Given the description of an element on the screen output the (x, y) to click on. 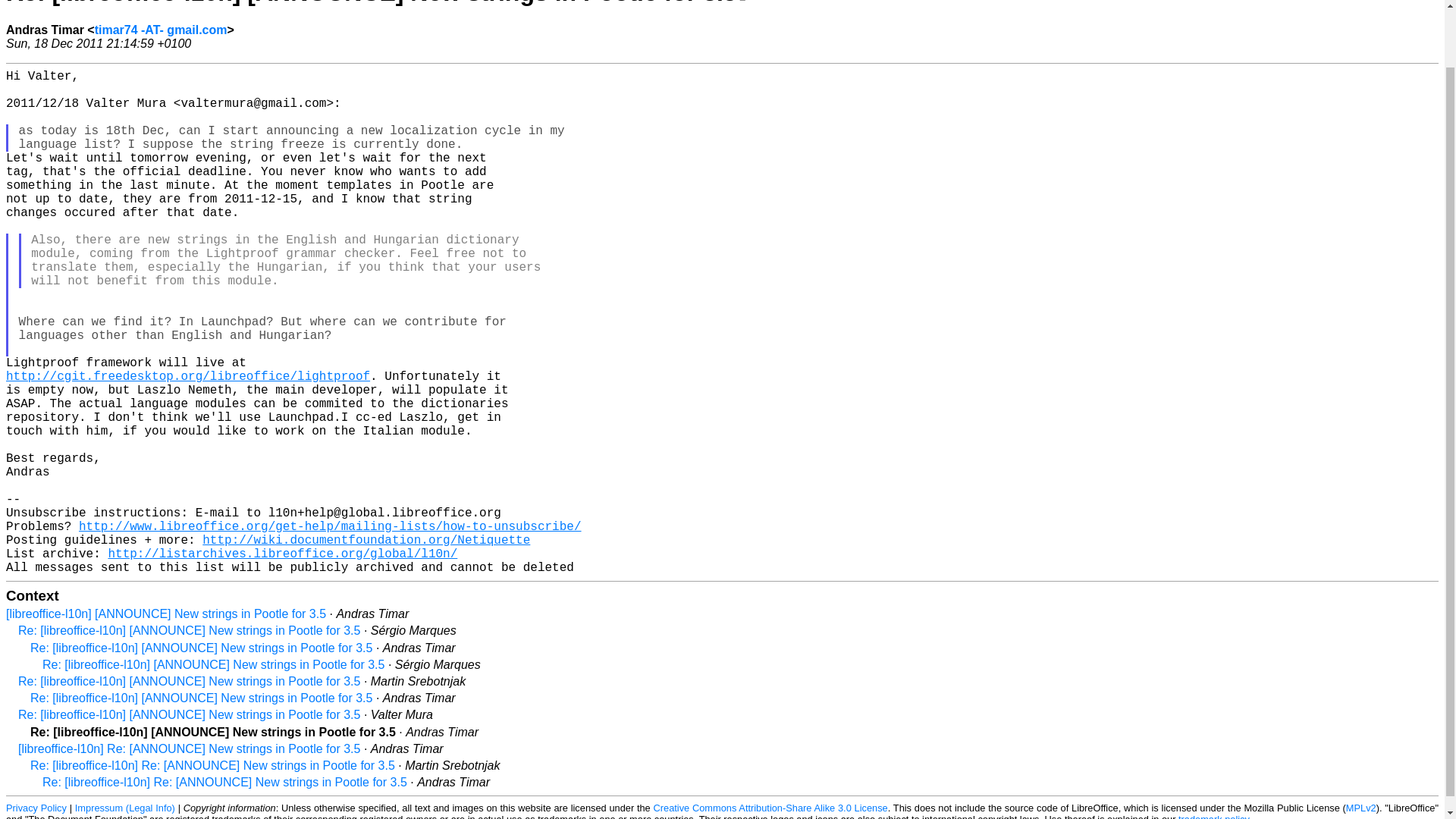
Creative Commons Attribution-Share Alike 3.0 License (770, 808)
Privacy Policy (35, 808)
timar74 -AT- gmail.com (160, 29)
MPLv2 (1360, 808)
